Given the description of an element on the screen output the (x, y) to click on. 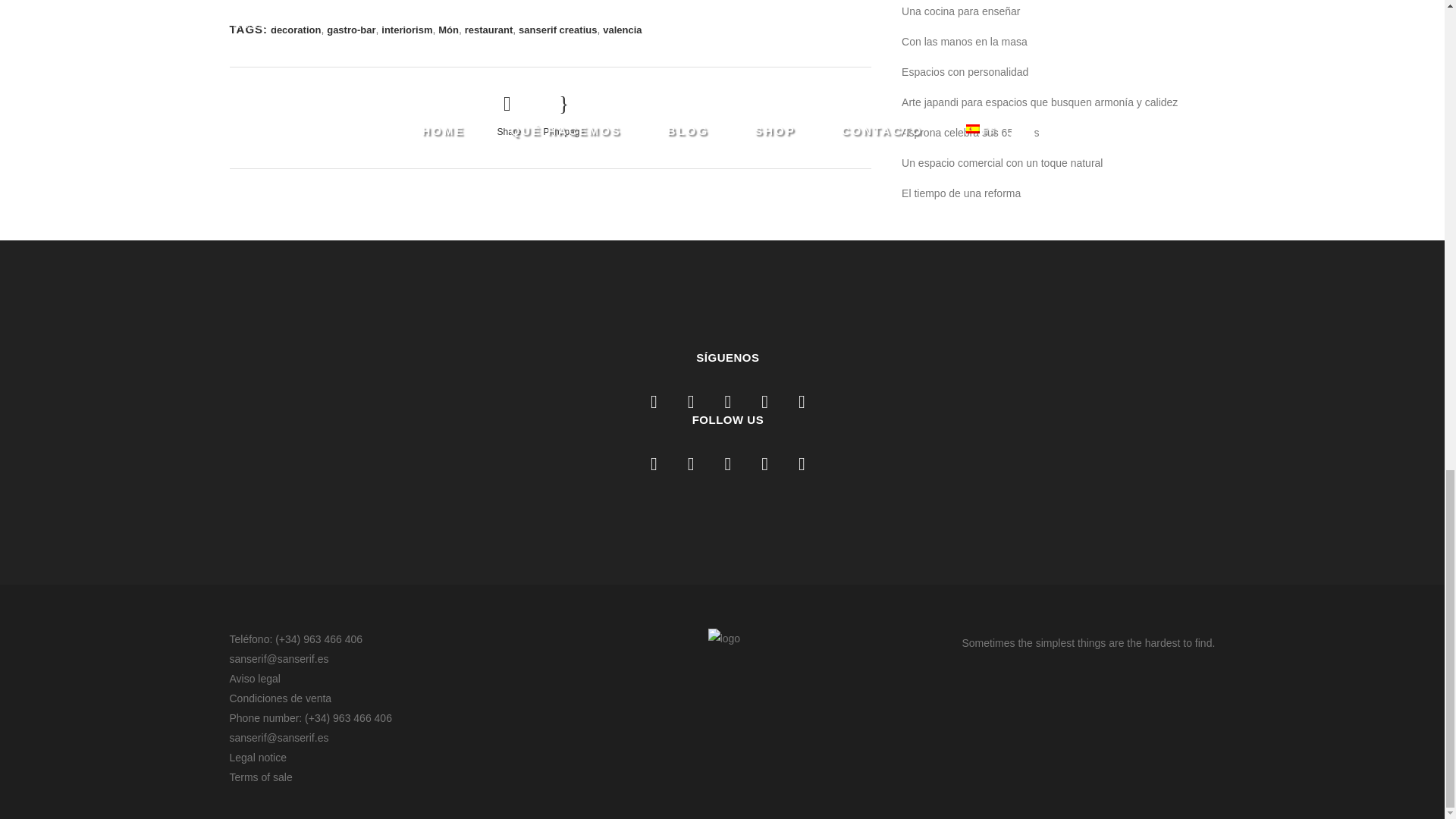
decoration (295, 30)
interiorism (406, 30)
gastro-bar (350, 30)
